Given the description of an element on the screen output the (x, y) to click on. 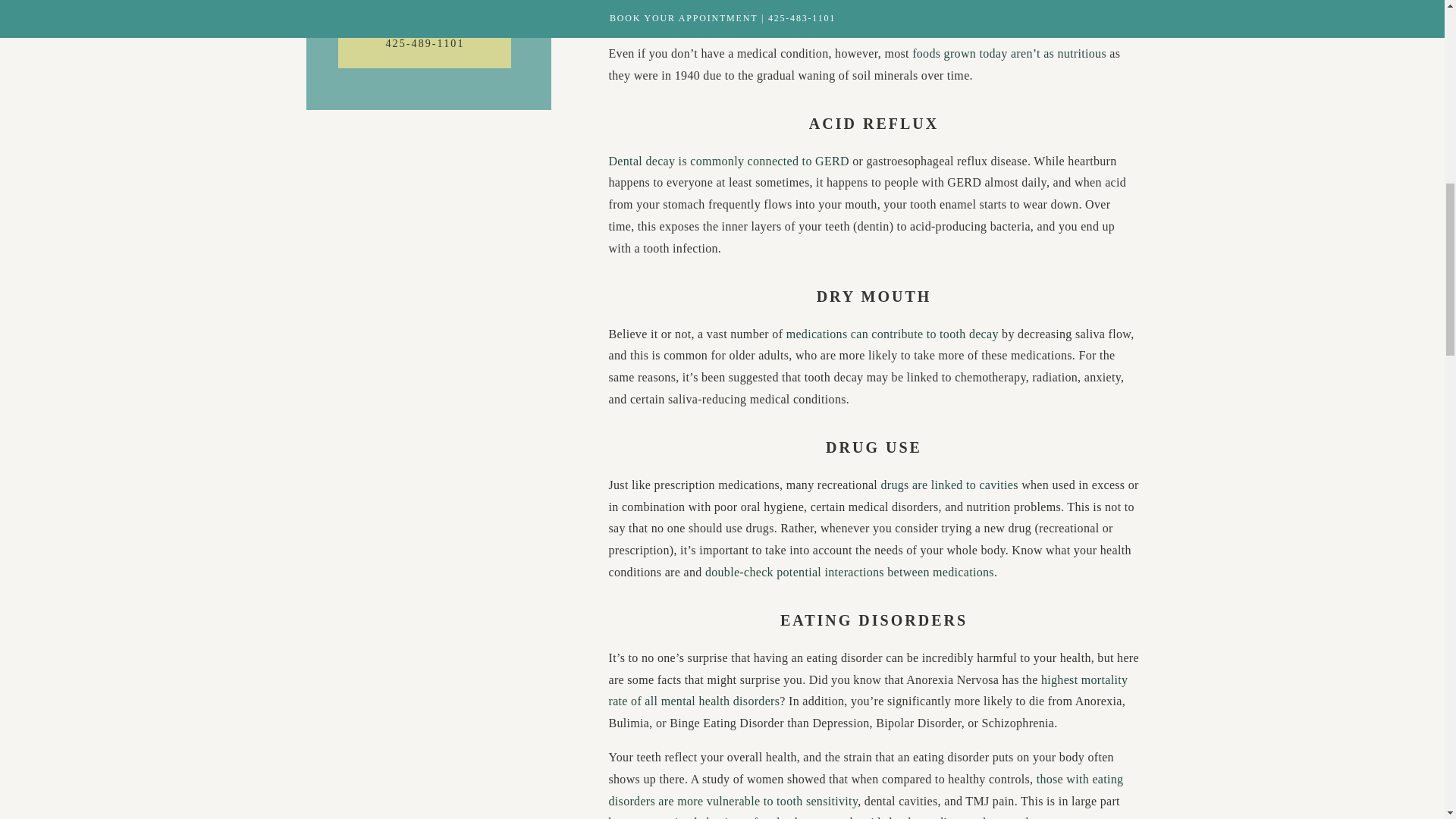
drugs are linked to cavities (948, 484)
double-check potential interactions between medications (849, 571)
Dental decay is commonly connected to GERD (728, 160)
highest mortality rate of all mental health disorders (867, 690)
medications can contribute to tooth decay (892, 333)
